Given the description of an element on the screen output the (x, y) to click on. 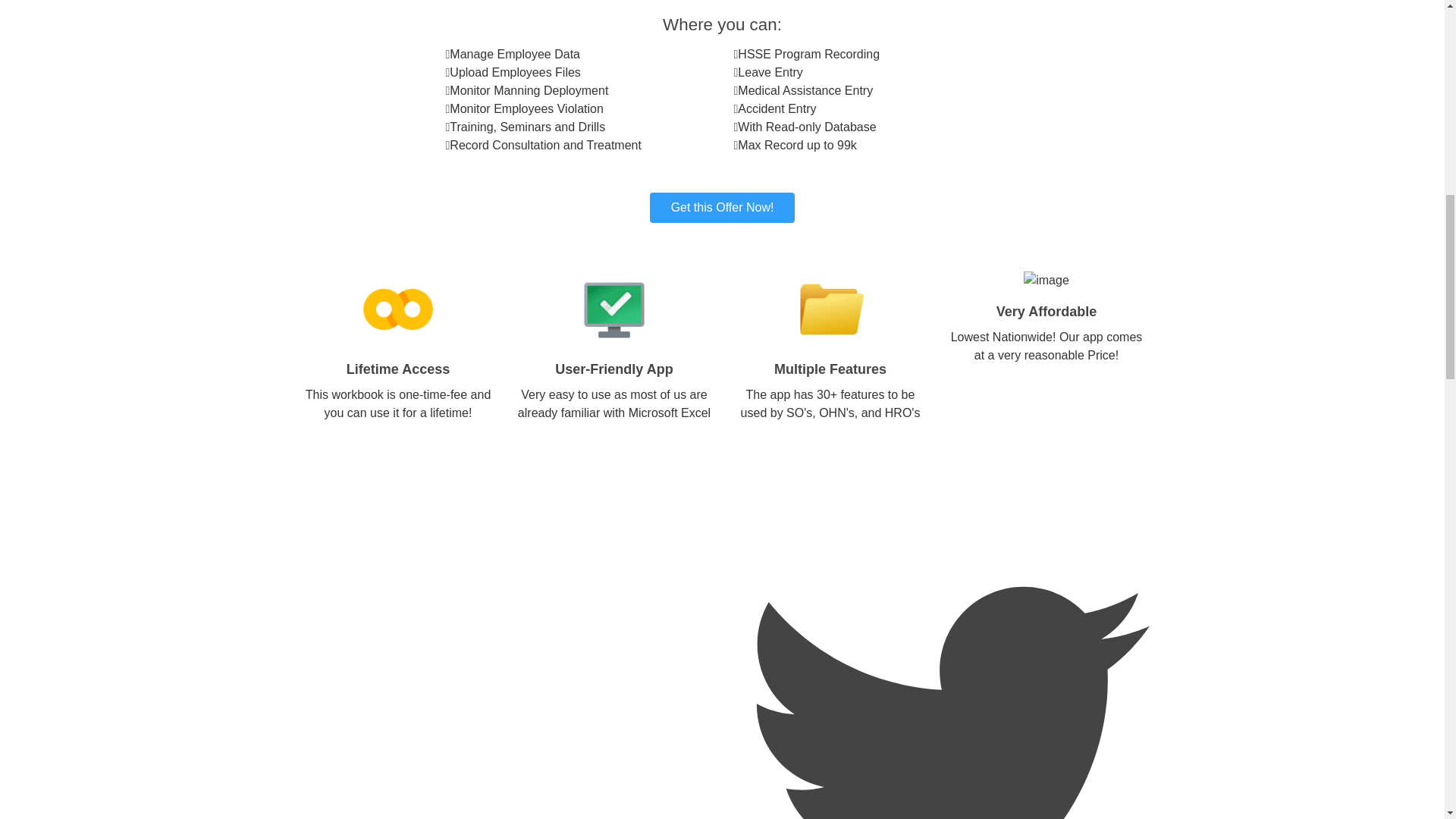
Get this Offer Now! (721, 207)
workbook-enterprise (721, 207)
